Given the description of an element on the screen output the (x, y) to click on. 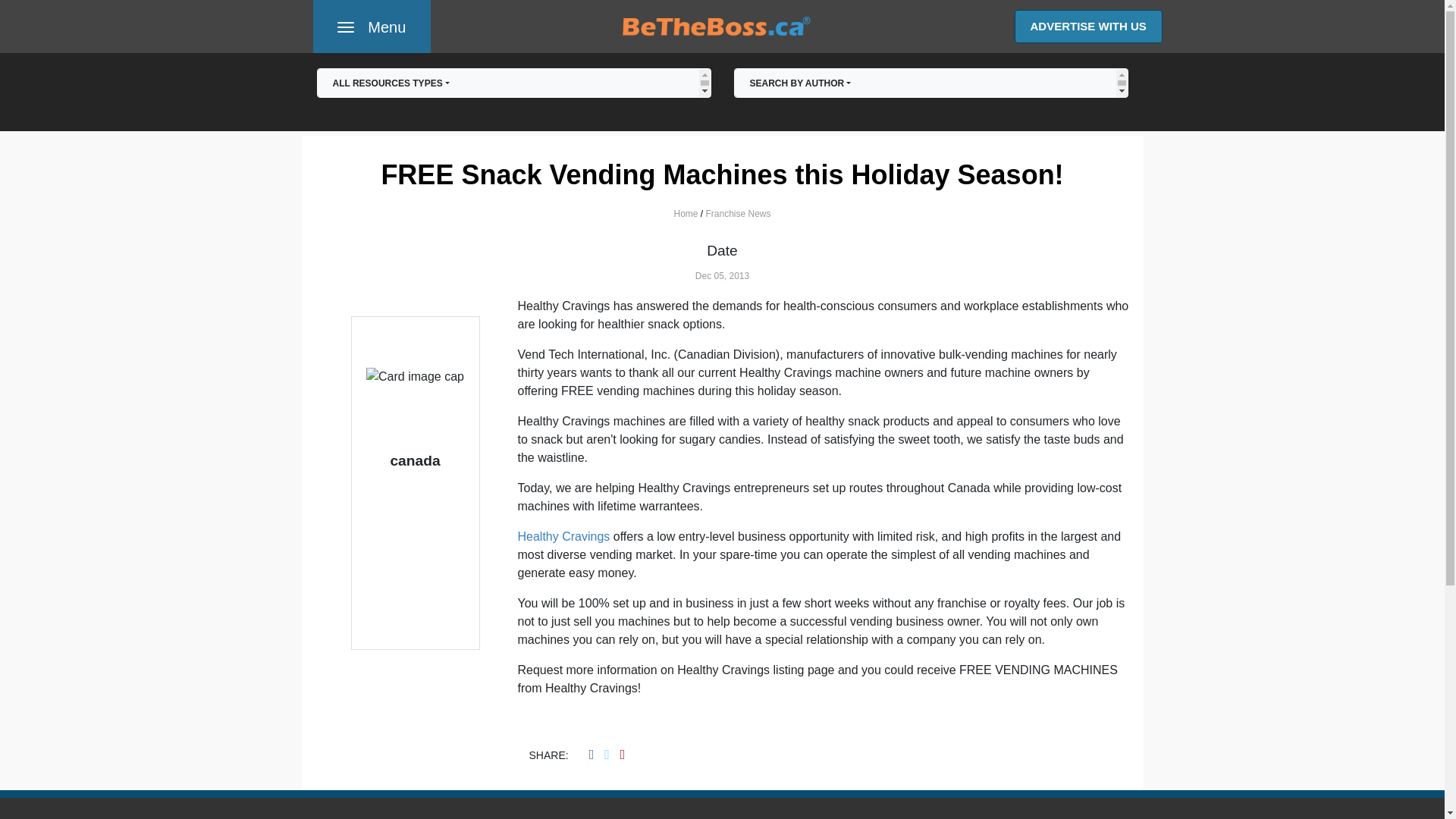
ADVERTISE WITH US (371, 26)
